Given the description of an element on the screen output the (x, y) to click on. 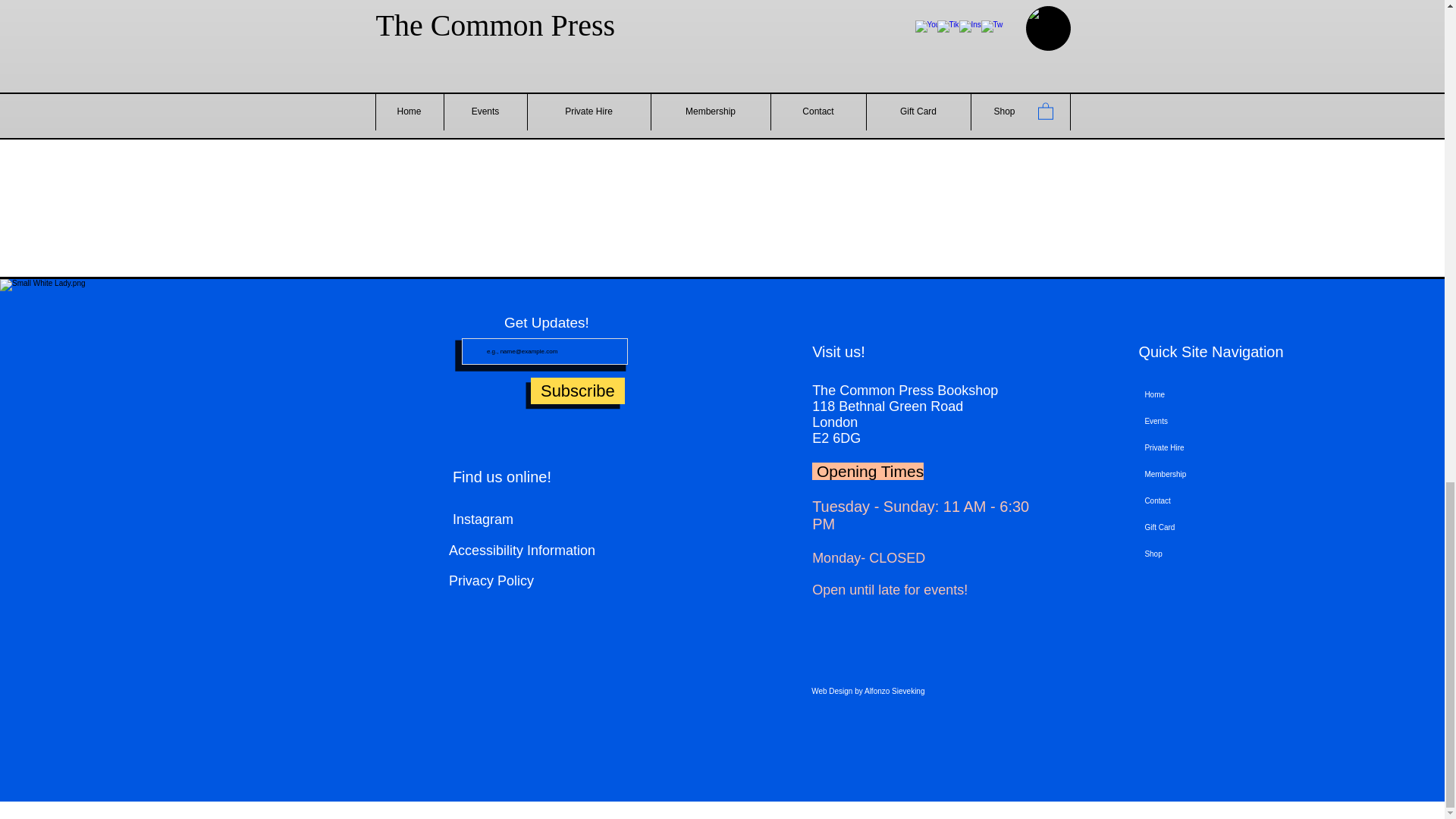
Accessibility Information (521, 549)
Subscribe (577, 390)
Shop (1236, 553)
Gift Card (1236, 527)
Private Hire (1236, 447)
Membership (1236, 474)
Events (1236, 420)
Instagram (577, 519)
Privacy Policy (562, 580)
Home (1236, 394)
